Given the description of an element on the screen output the (x, y) to click on. 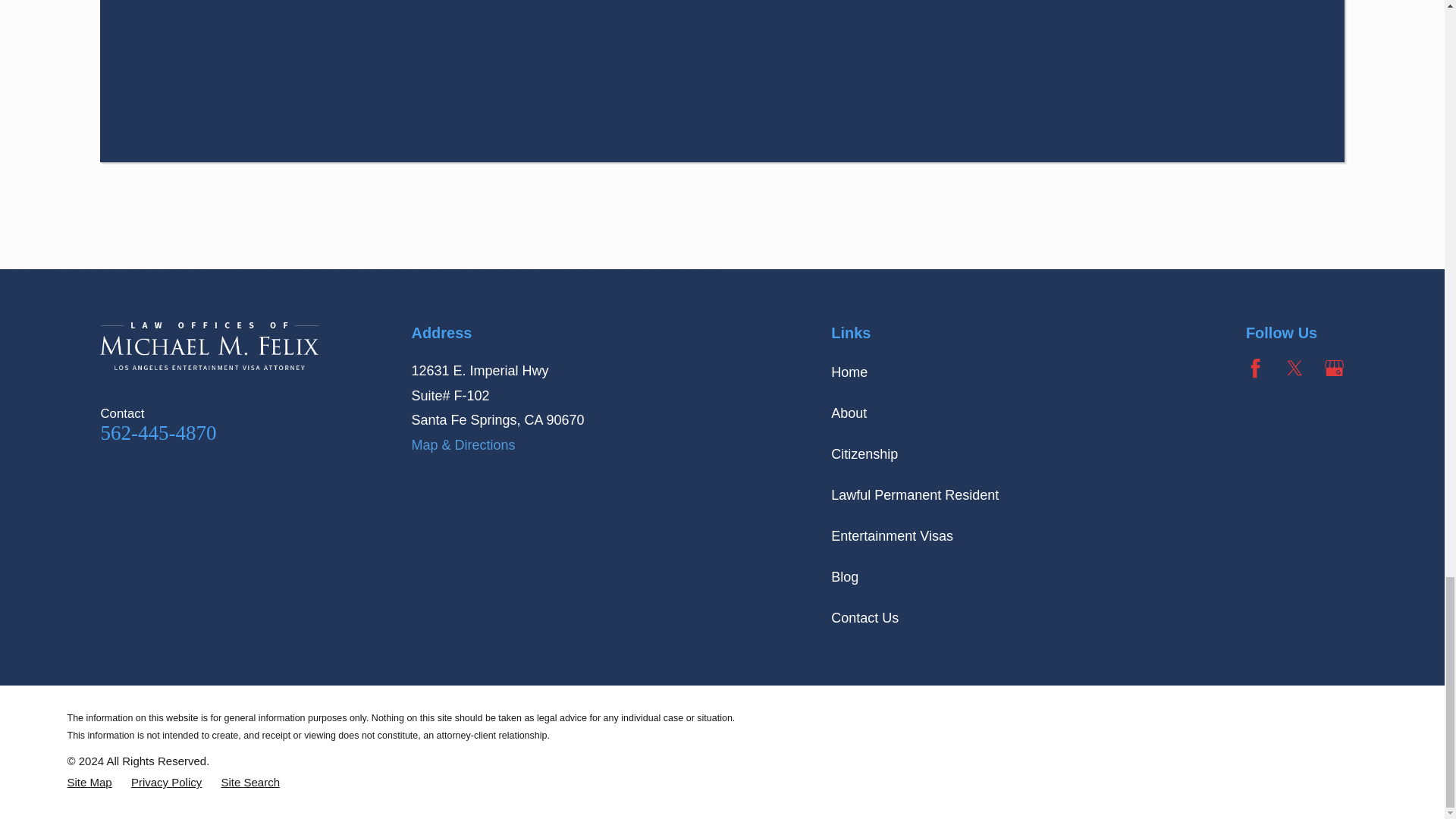
Google Business Profile (1333, 367)
Home (209, 346)
Facebook (1255, 367)
Twitter (1294, 367)
